Given the description of an element on the screen output the (x, y) to click on. 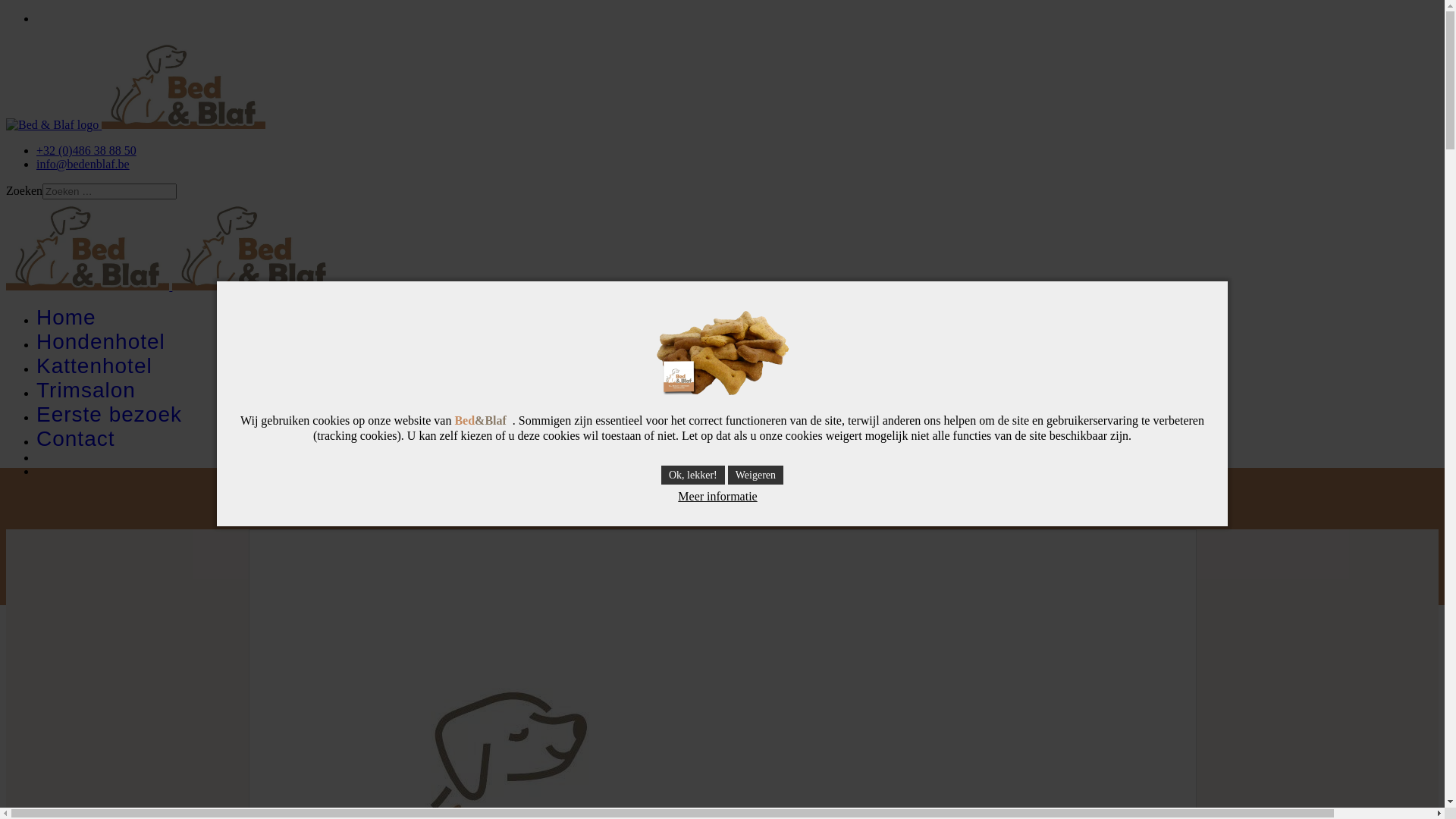
Contact Element type: text (75, 438)
Home Element type: text (66, 317)
Kattenhotel Element type: text (94, 365)
Trimsalon Element type: text (85, 389)
+32 (0)486 38 88 50 Element type: text (86, 150)
Eerste bezoek Element type: text (109, 414)
info@bedenblaf.be Element type: text (82, 163)
Meer informatie Element type: text (716, 496)
Hondenhotel Element type: text (100, 341)
Ok, lekker! Element type: text (692, 474)
Weigeren Element type: text (755, 474)
